Given the description of an element on the screen output the (x, y) to click on. 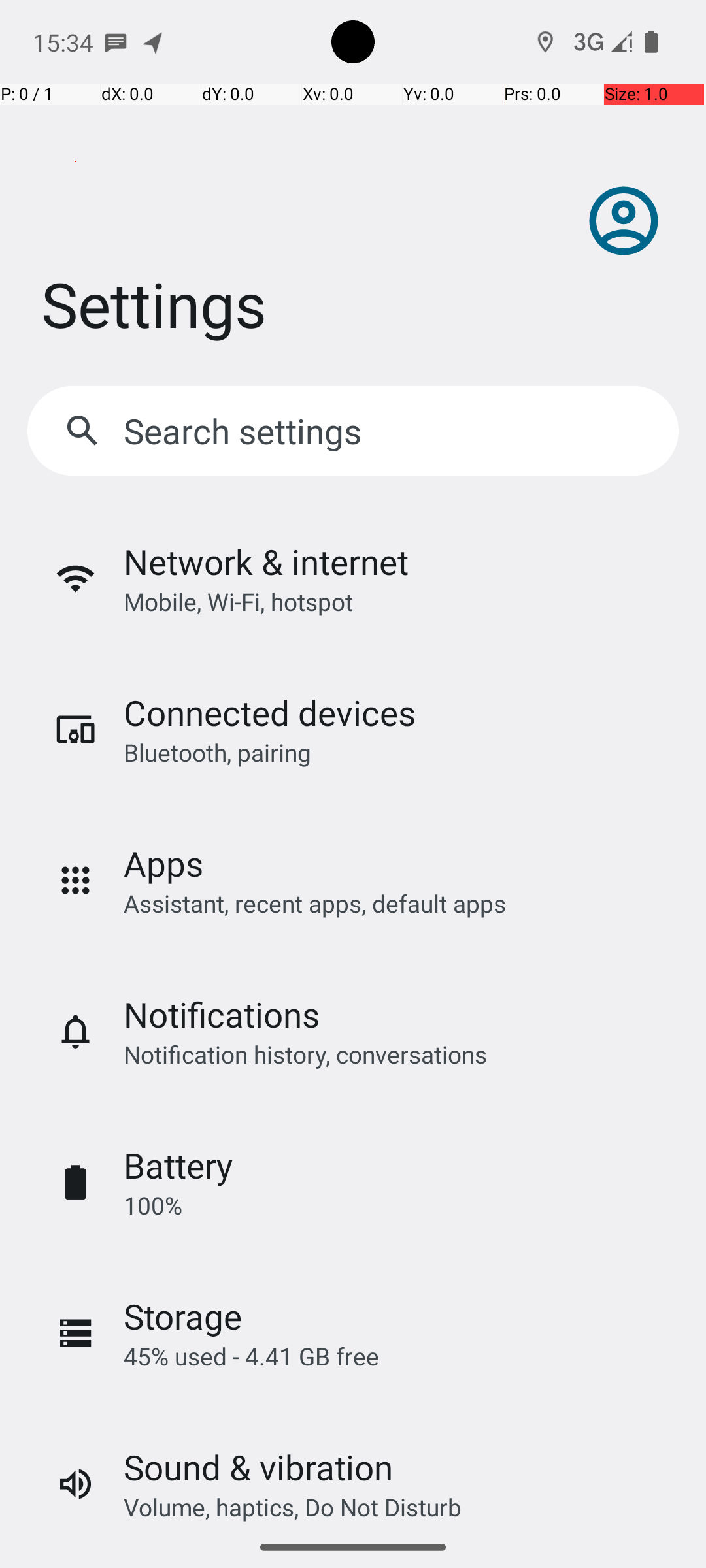
45% used - 4.41 GB free Element type: android.widget.TextView (251, 1355)
SMS Messenger notification: Noa Mohamed Element type: android.widget.ImageView (115, 41)
